Given the description of an element on the screen output the (x, y) to click on. 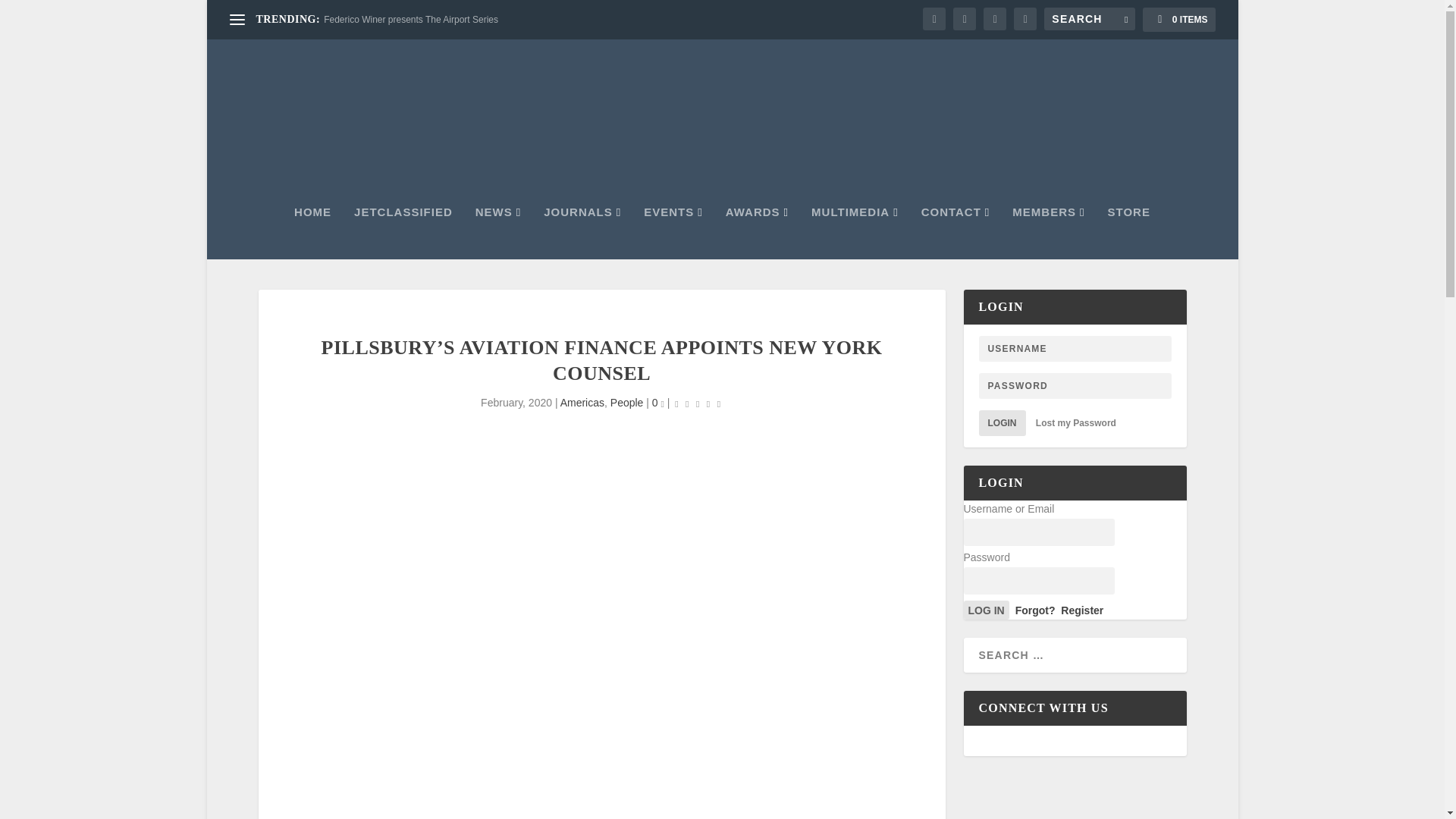
JOURNALS (582, 232)
Federico Winer presents The Airport Series (410, 19)
Rating: 0.00 (697, 403)
JETCLASSIFIED (402, 232)
log in (985, 609)
